Given the description of an element on the screen output the (x, y) to click on. 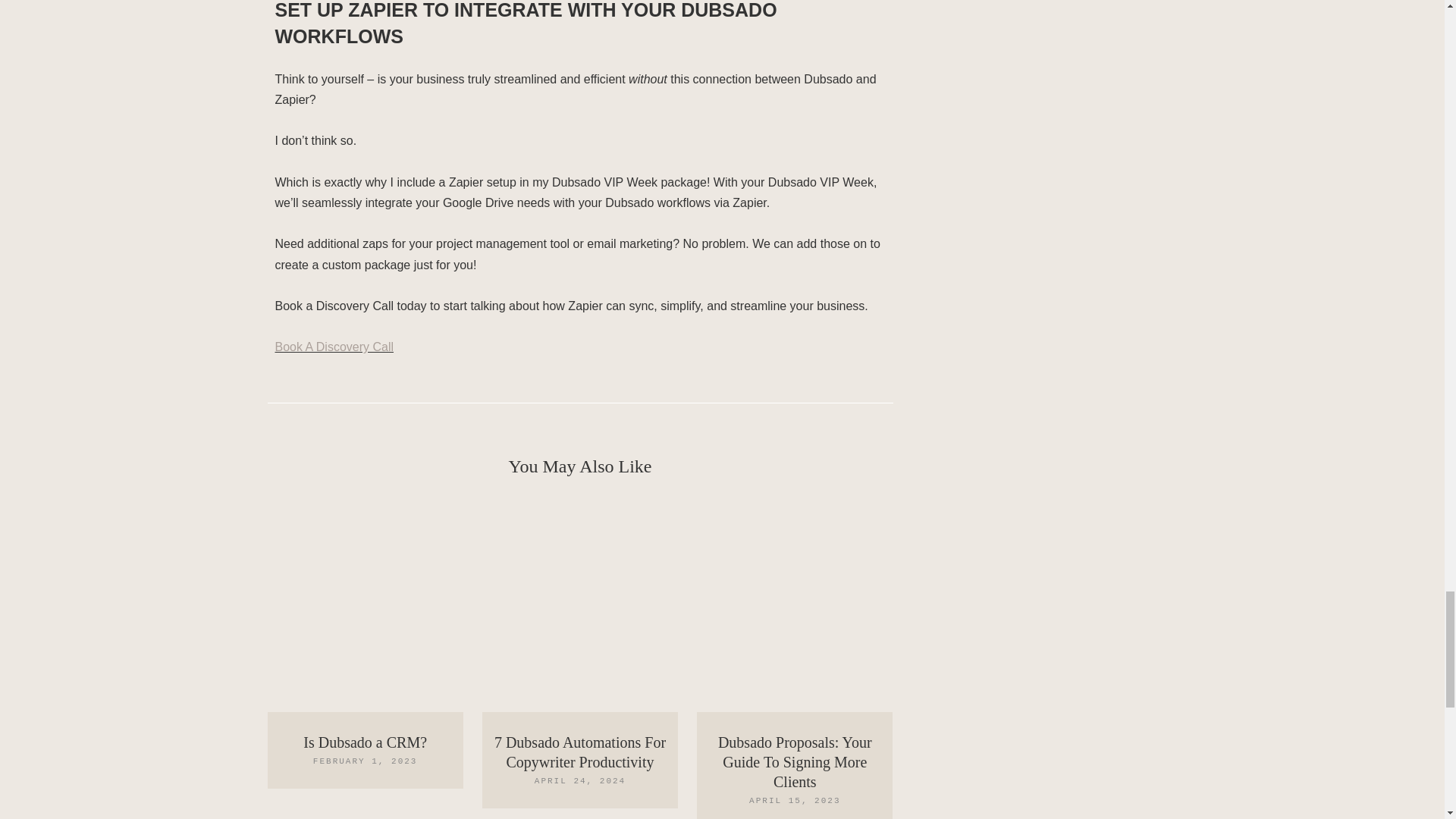
Is Dubsado a CRM? (364, 742)
Book A Discovery Call (334, 346)
7 Dubsado Automations For Copywriter Productivity (580, 751)
Dubsado Proposals: Your Guide To Signing More Clients (794, 761)
